Given the description of an element on the screen output the (x, y) to click on. 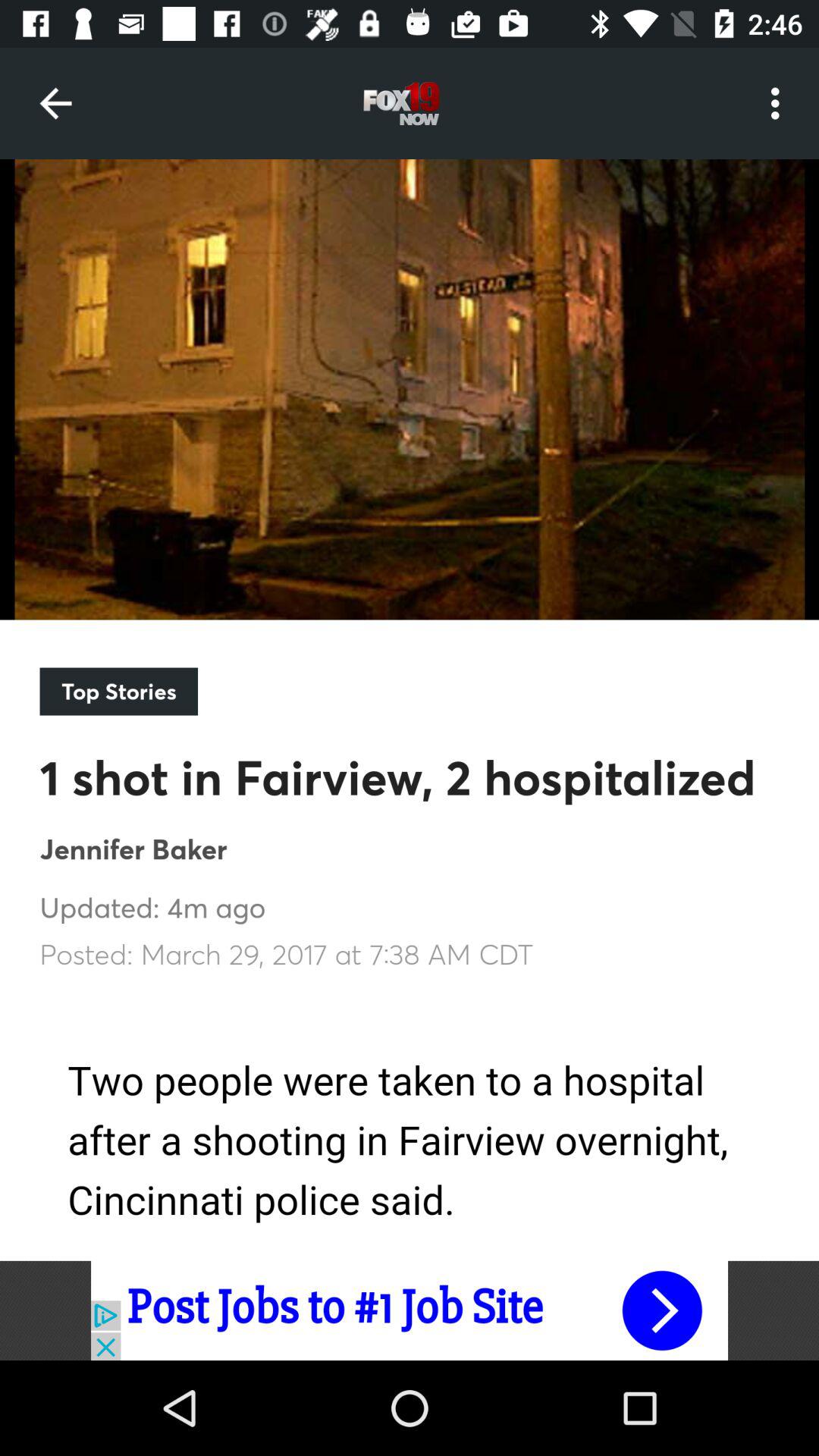
view advertisement (409, 1310)
